Given the description of an element on the screen output the (x, y) to click on. 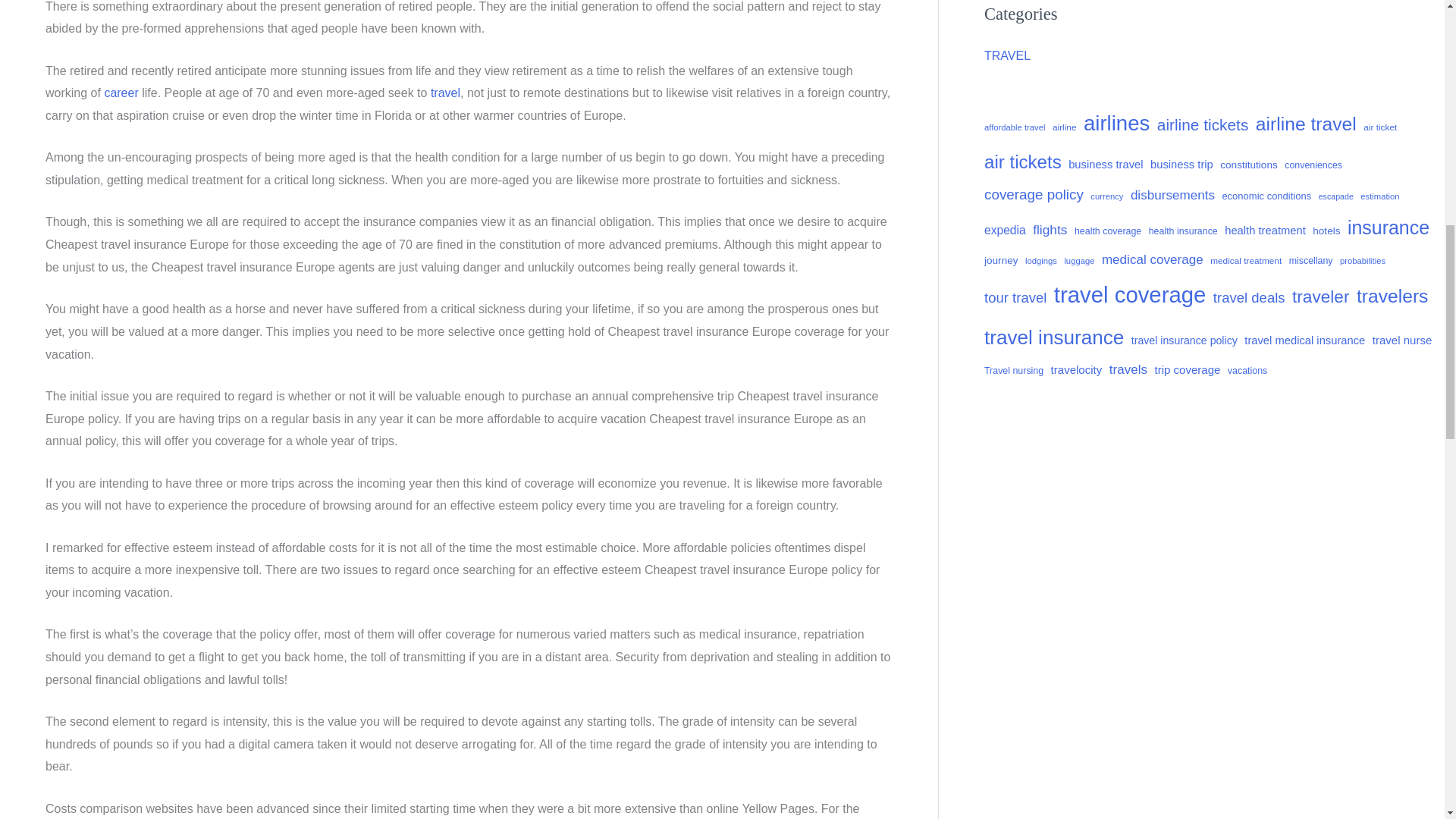
career (120, 92)
travel (445, 92)
TRAVEL (1007, 55)
